Given the description of an element on the screen output the (x, y) to click on. 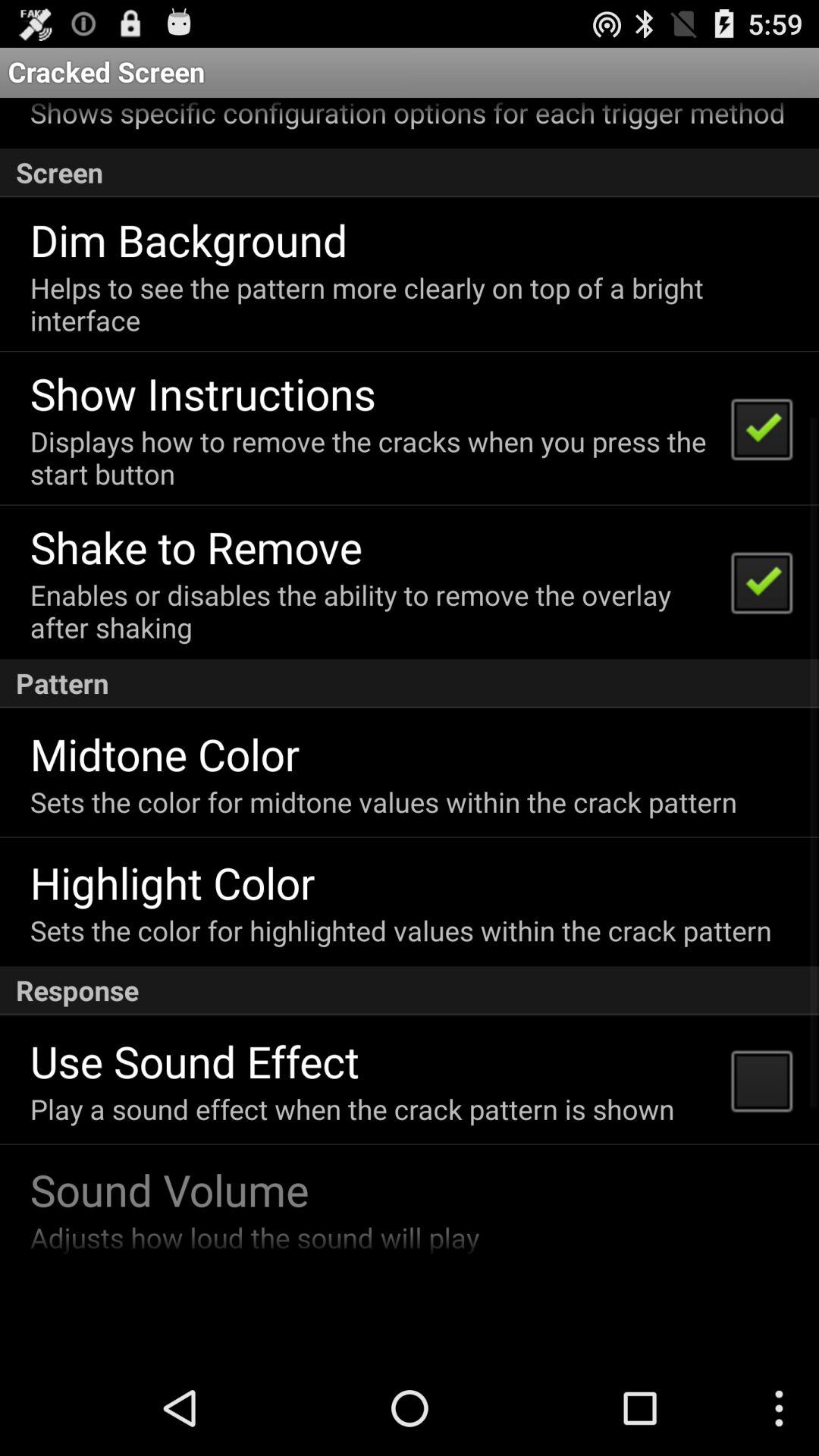
swipe until the dim background icon (188, 239)
